Given the description of an element on the screen output the (x, y) to click on. 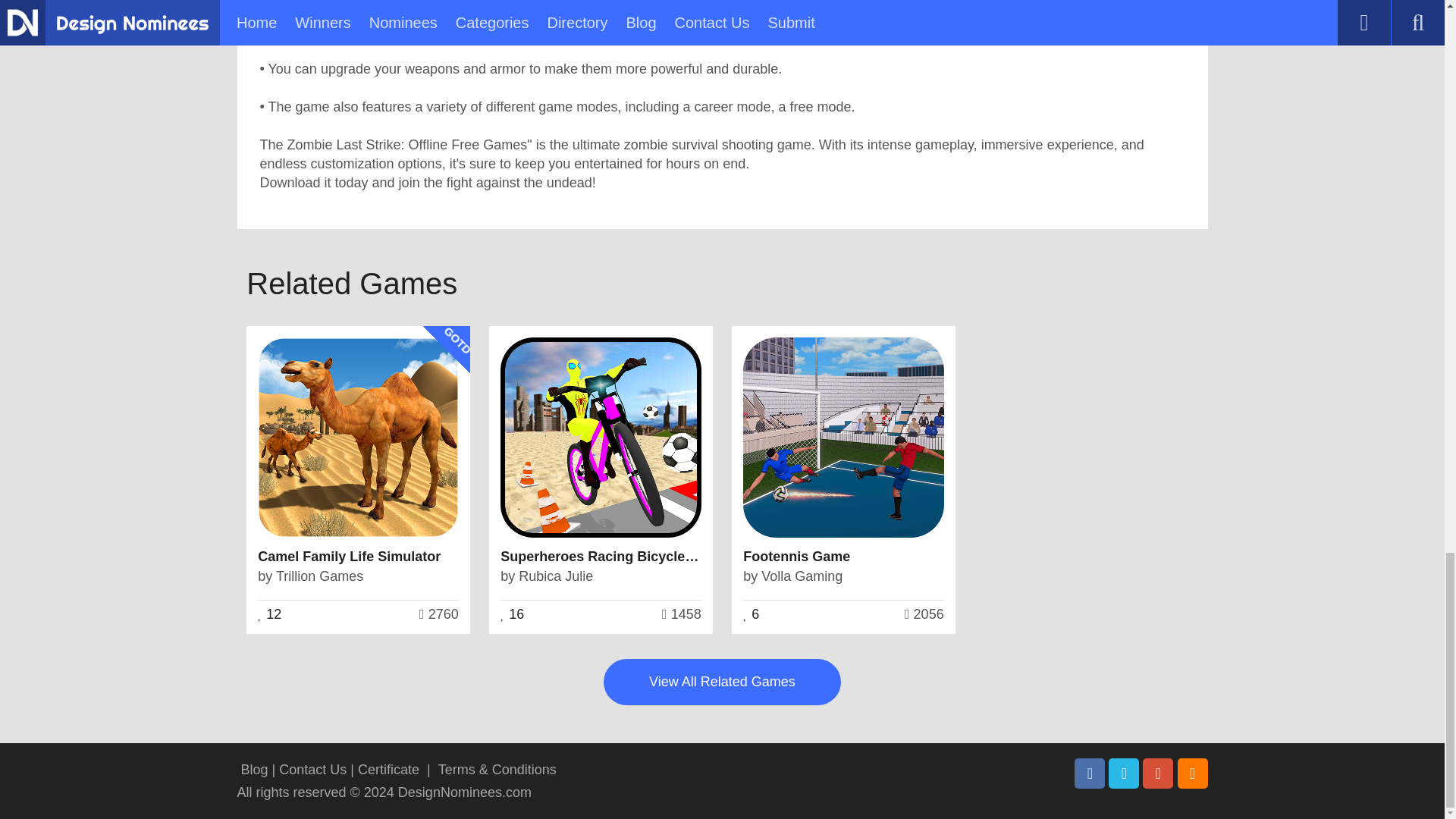
Rss (1191, 773)
Pinterest (1157, 773)
Facebook (1089, 773)
Twitter (1123, 773)
